Given the description of an element on the screen output the (x, y) to click on. 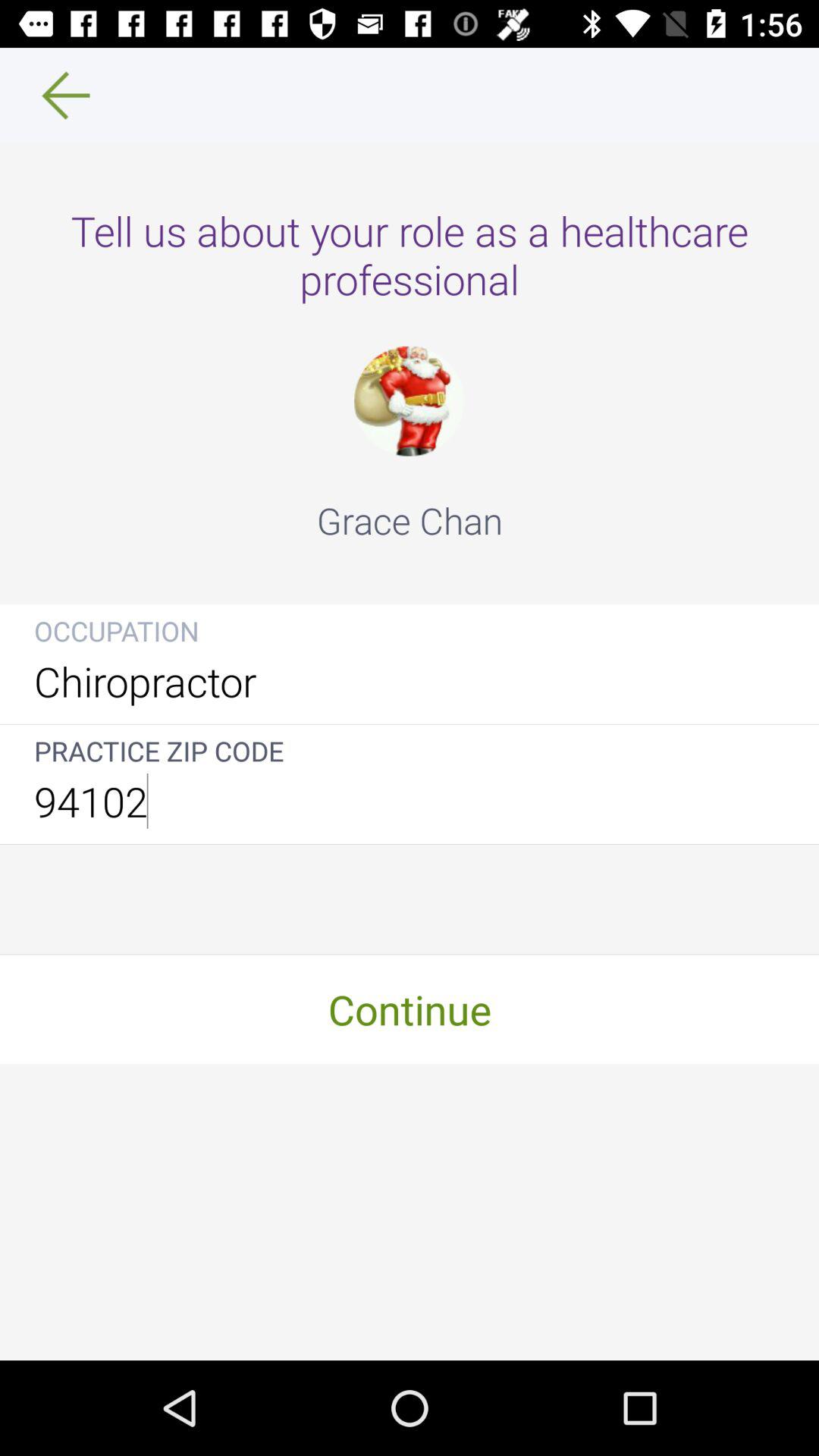
select the 94102 item (409, 800)
